Given the description of an element on the screen output the (x, y) to click on. 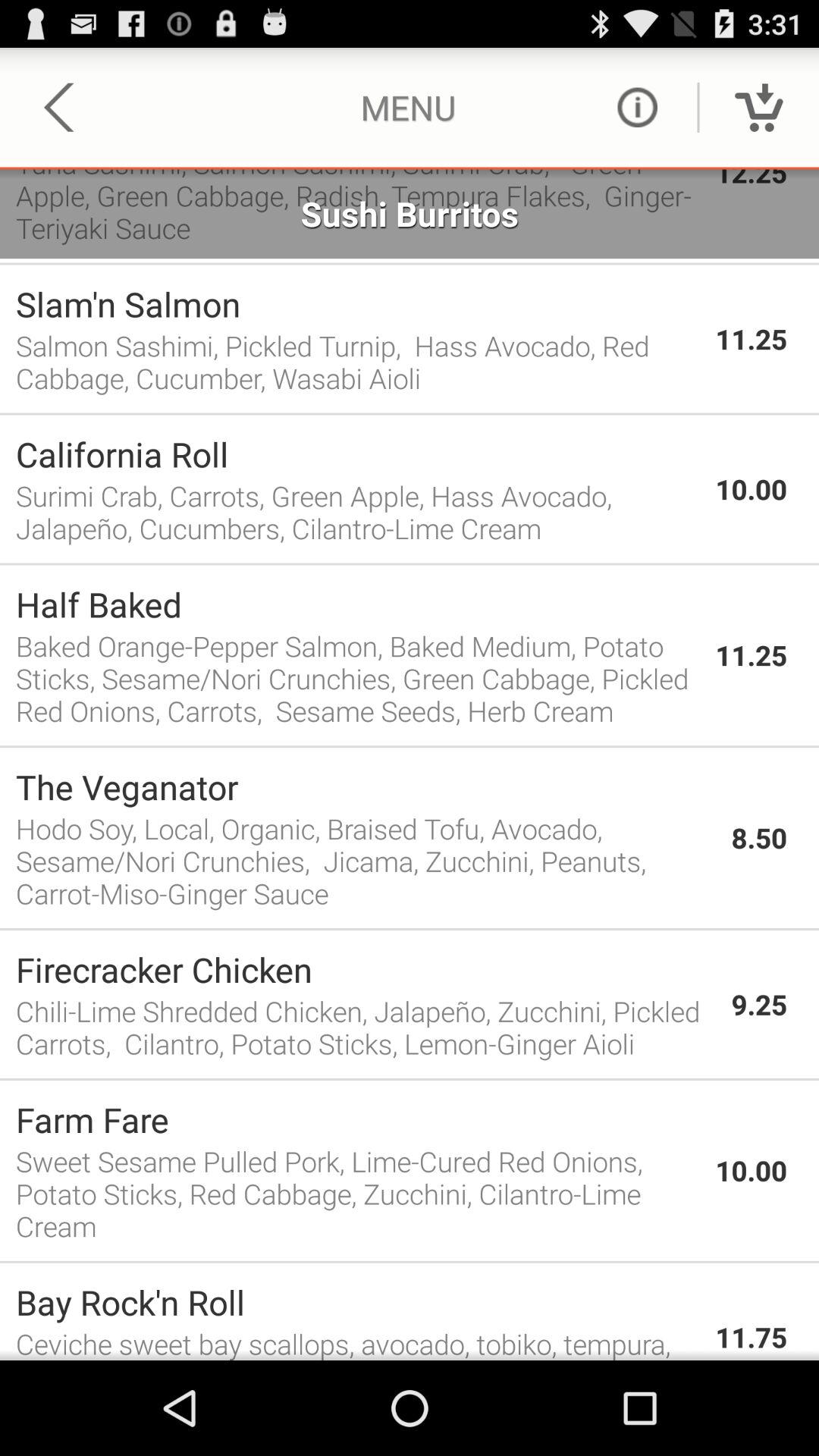
click item below the the veganator item (365, 860)
